Given the description of an element on the screen output the (x, y) to click on. 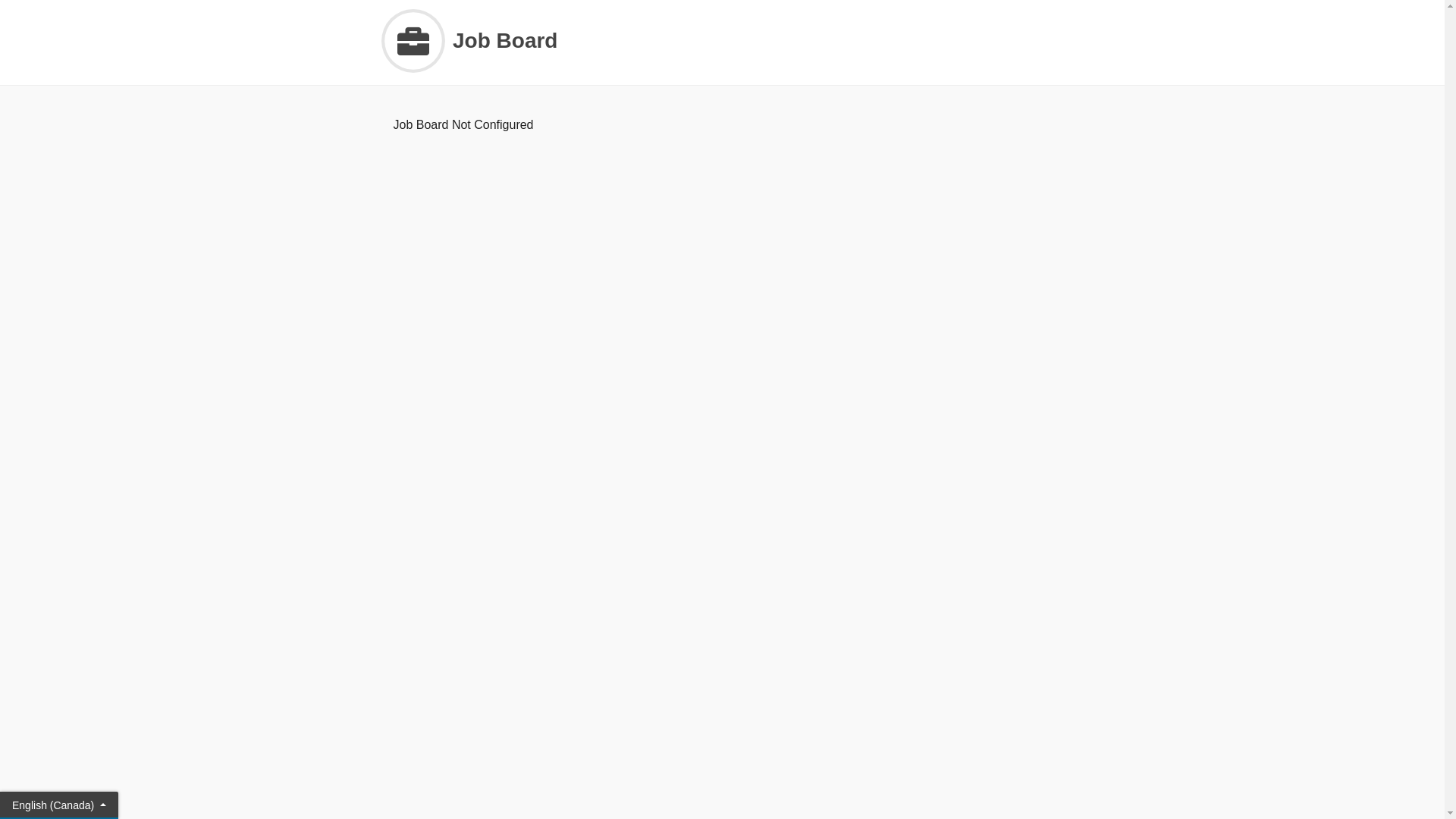
Job Board Element type: text (722, 40)
